Given the description of an element on the screen output the (x, y) to click on. 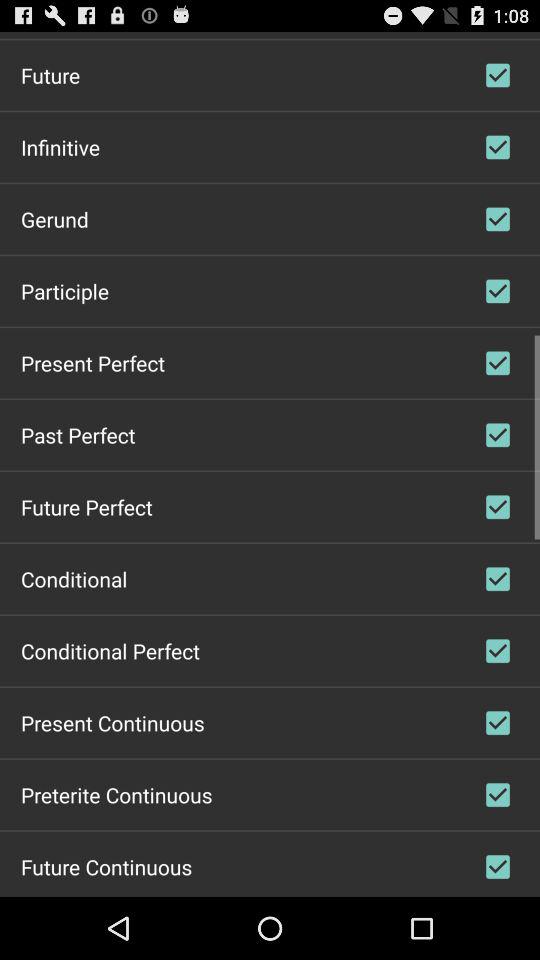
choose the item above the present perfect icon (65, 290)
